Given the description of an element on the screen output the (x, y) to click on. 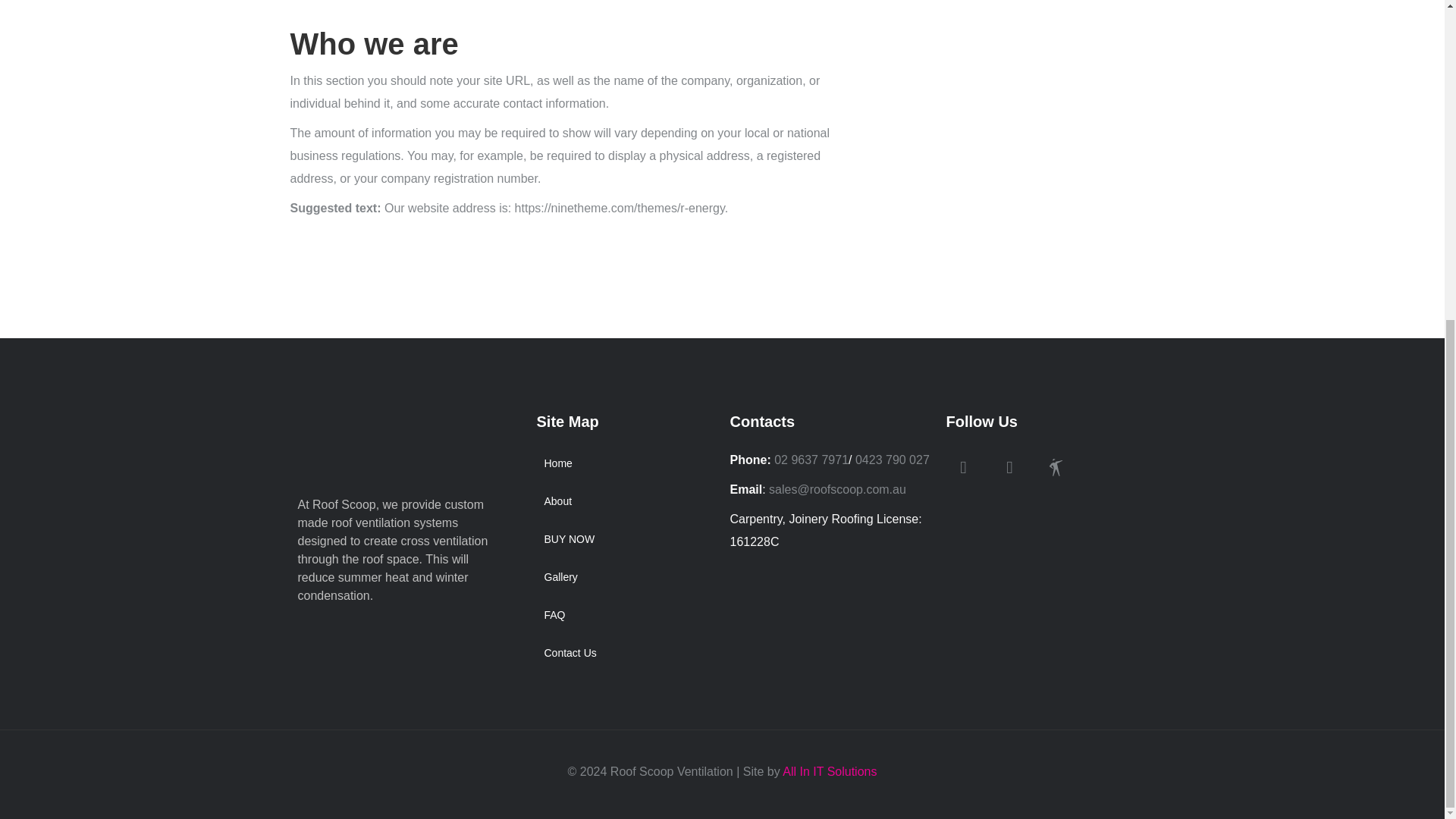
Home (629, 463)
BUY NOW (629, 538)
About (629, 501)
Contact Us (629, 652)
All In IT Solutions (829, 771)
FAQ (629, 614)
Gallery (629, 576)
02 9637 7971 (811, 459)
0423 790 027 (893, 459)
